Given the description of an element on the screen output the (x, y) to click on. 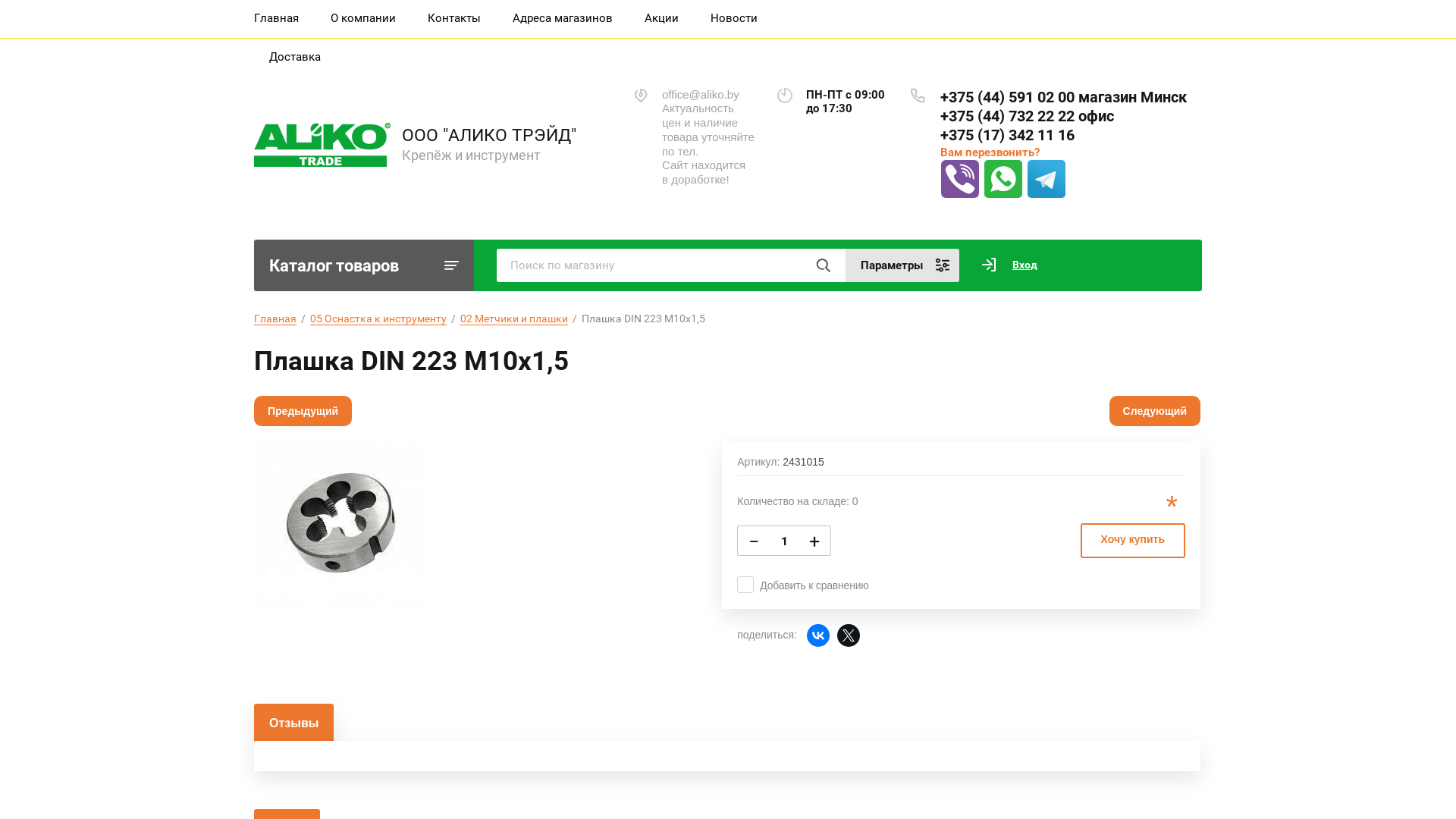
+375 (17) 342 11 16 Element type: text (1007, 134)
* Element type: text (1171, 506)
+ Element type: text (814, 540)
Twitter Element type: hover (848, 635)
  Element type: text (822, 265)
